Given the description of an element on the screen output the (x, y) to click on. 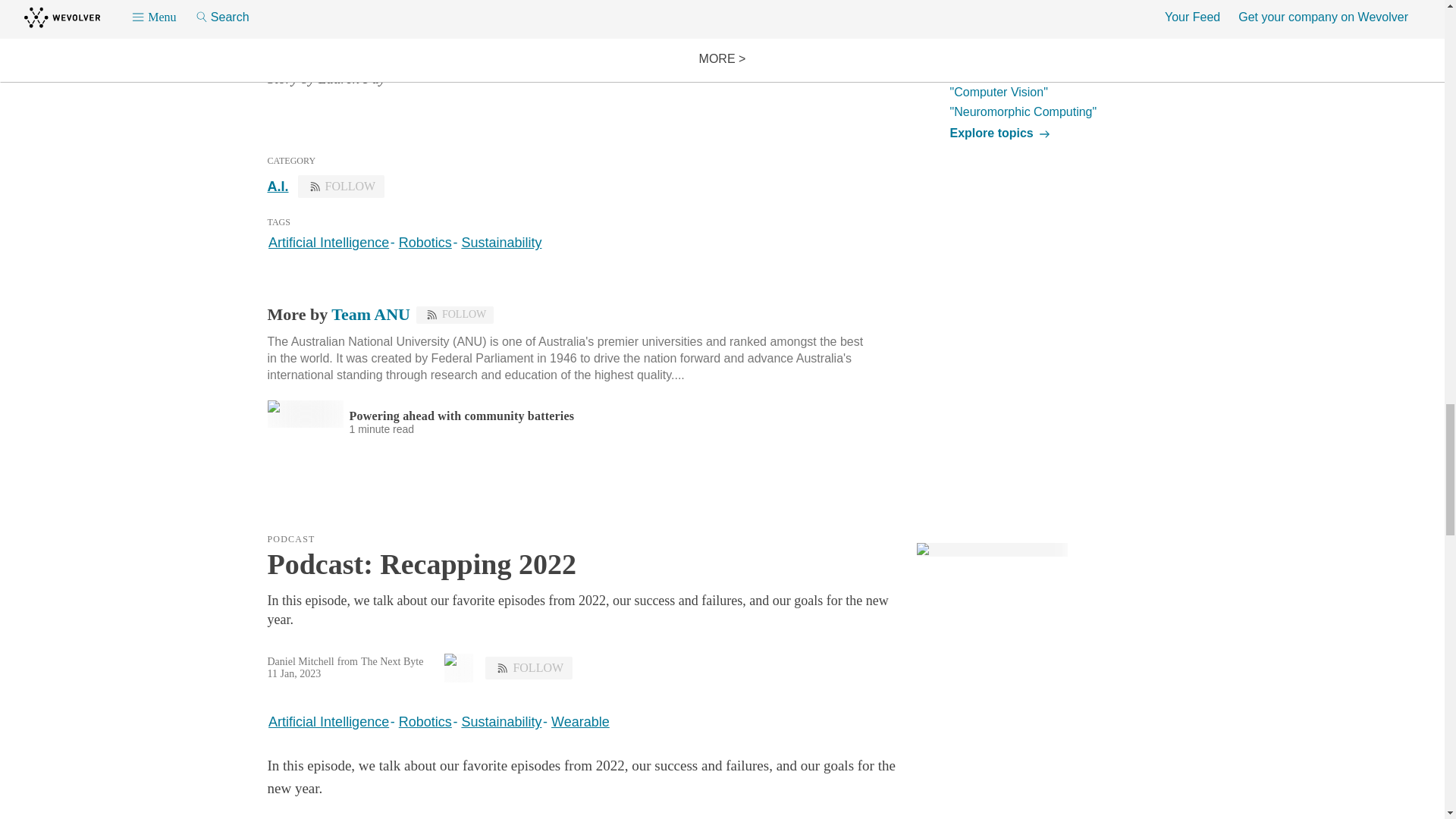
Artificial Intelligence (327, 722)
FOLLOW (341, 186)
- Sustainability (496, 722)
- Wearable (574, 722)
Team ANU (370, 313)
- Sustainability (496, 242)
- Robotics (419, 242)
PODCAST (291, 538)
Powering ahead with community batteries (461, 416)
Daniel Mitchell (299, 661)
A.I. (277, 186)
FOLLOW (454, 314)
- Robotics (419, 722)
The Next Byte (392, 662)
FOLLOW (528, 667)
